Given the description of an element on the screen output the (x, y) to click on. 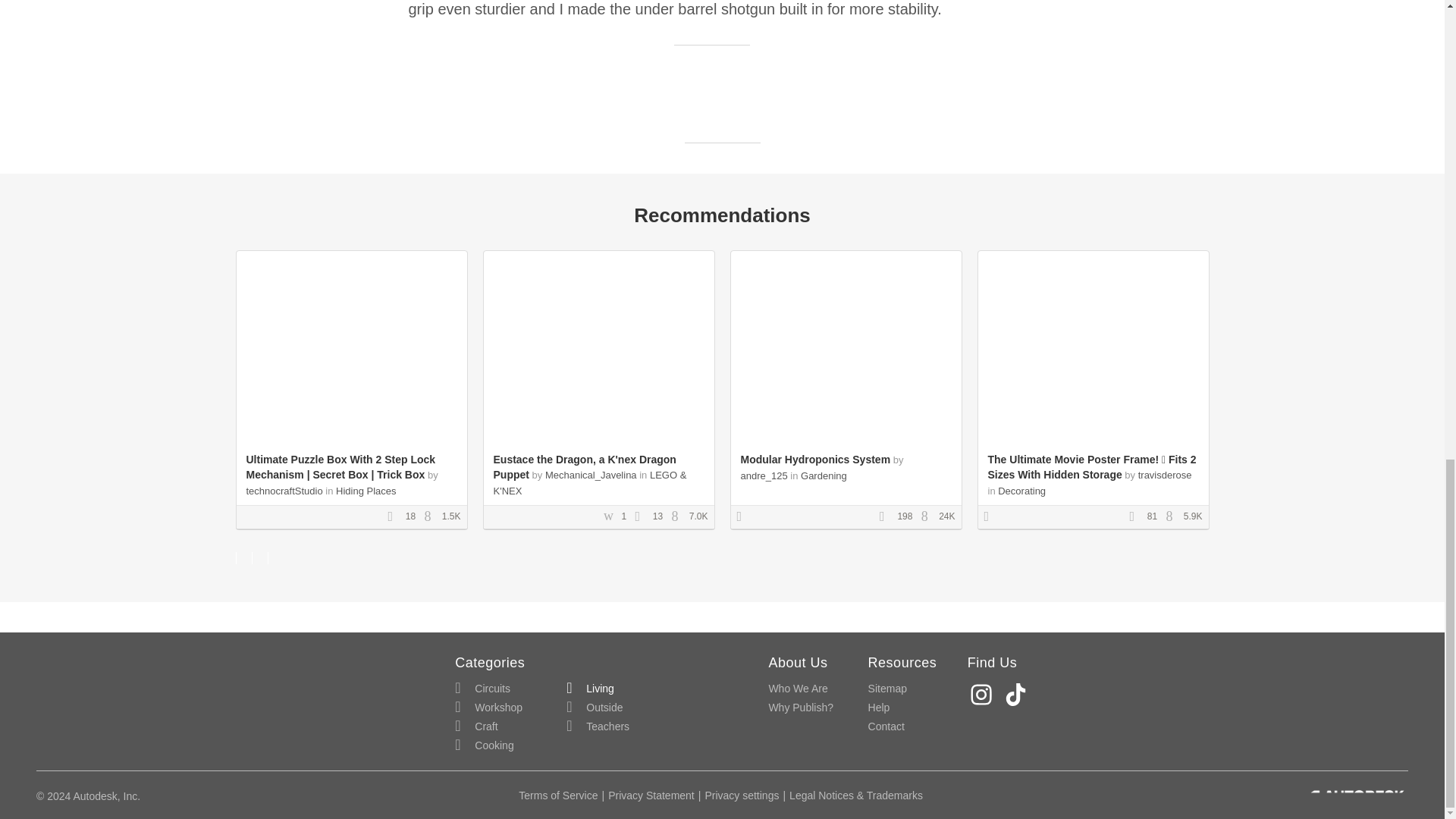
TikTok (1018, 694)
Circuits (482, 688)
Favorites Count (641, 516)
technocraftStudio (283, 490)
Gardening (823, 475)
Instagram (983, 694)
Favorites Count (887, 516)
Views Count (928, 516)
Decorating (1021, 490)
Eustace the Dragon, a K'nex Dragon Puppet (584, 466)
Favorites Count (1136, 516)
Contest Winner (744, 516)
Views Count (678, 516)
Favorites Count (395, 516)
Hiding Places (366, 490)
